Given the description of an element on the screen output the (x, y) to click on. 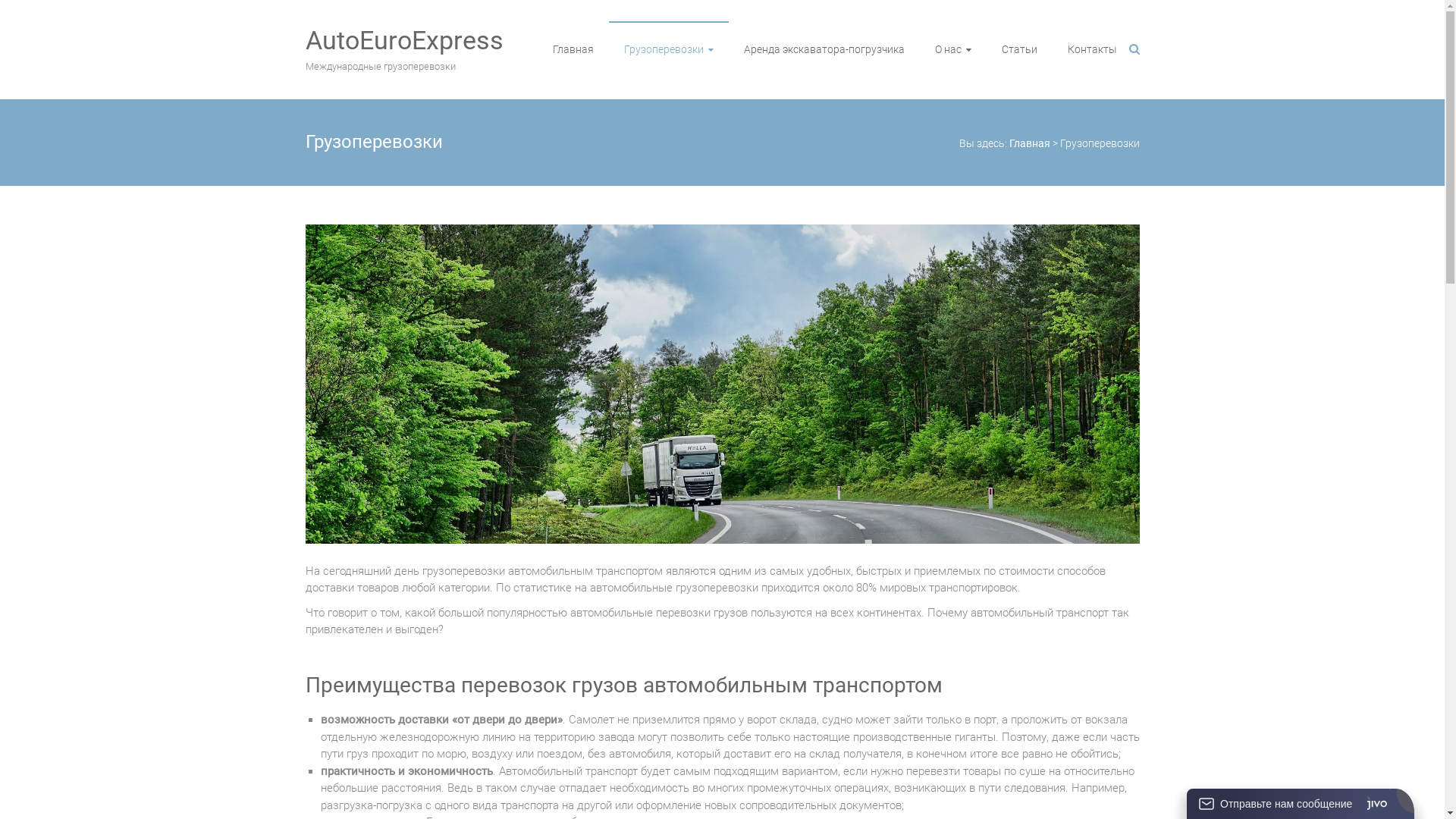
AutoEuroExpress Element type: text (403, 40)
